Given the description of an element on the screen output the (x, y) to click on. 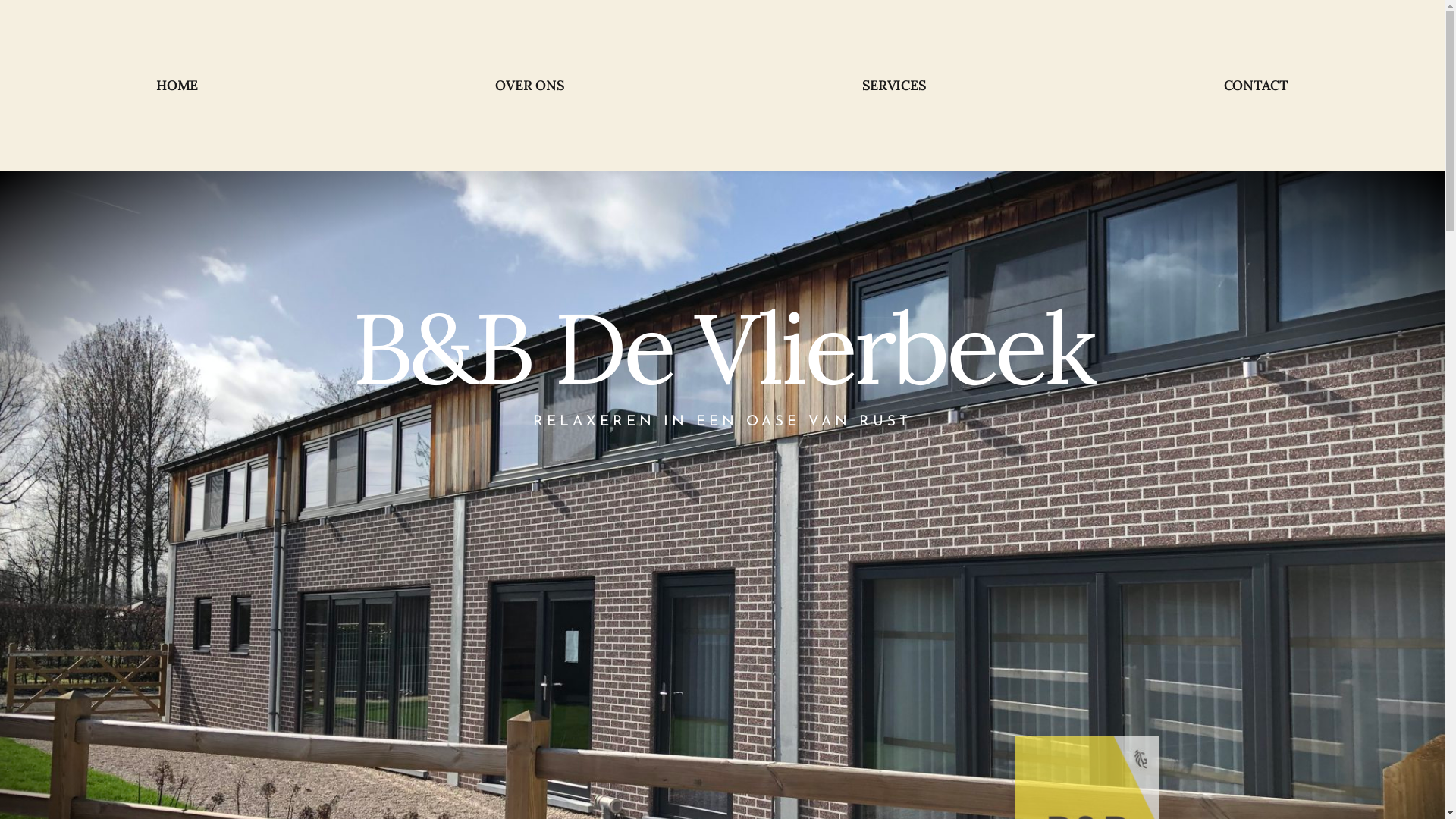
SERVICES Element type: text (893, 85)
HOME Element type: text (176, 85)
OVER ONS Element type: text (529, 85)
CONTACT Element type: text (1256, 85)
